Given the description of an element on the screen output the (x, y) to click on. 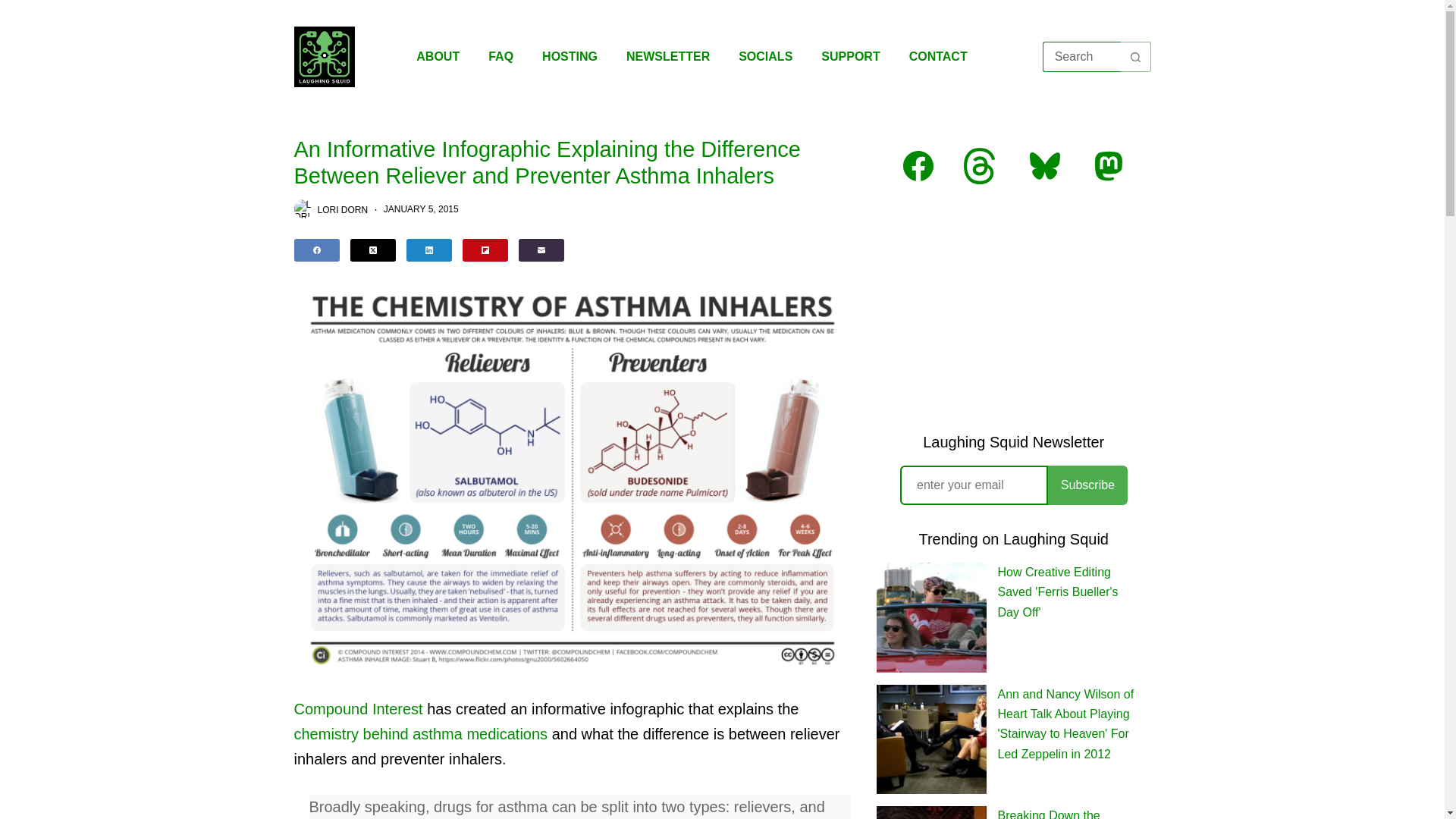
Skip to content (15, 7)
chemistry behind asthma medications (421, 733)
NEWSLETTER (667, 56)
Compound Interest (358, 709)
Posts by Lori Dorn (342, 208)
LORI DORN (342, 208)
Search for... (1081, 56)
